Given the description of an element on the screen output the (x, y) to click on. 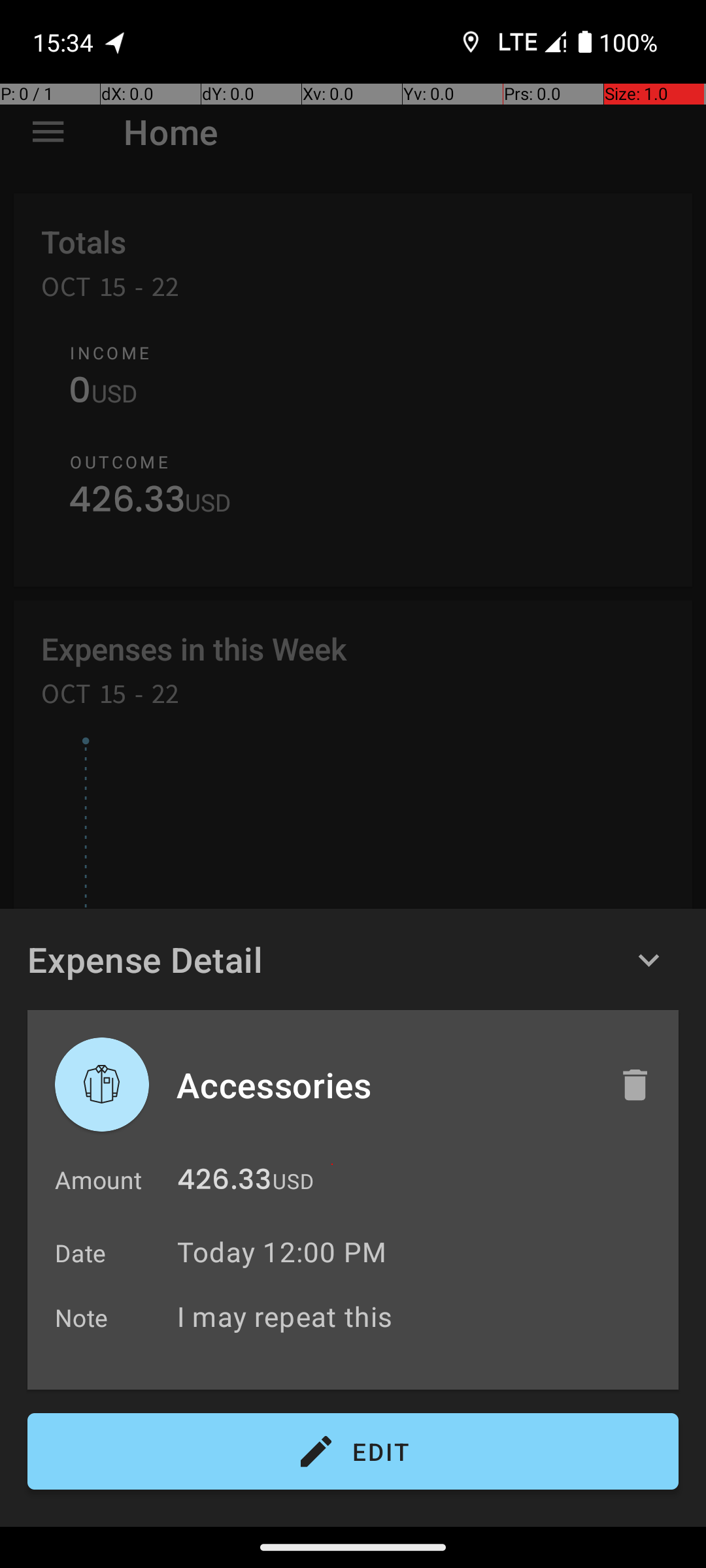
Accessories Element type: android.widget.TextView (383, 1084)
426.33 Element type: android.widget.TextView (223, 1182)
